Given the description of an element on the screen output the (x, y) to click on. 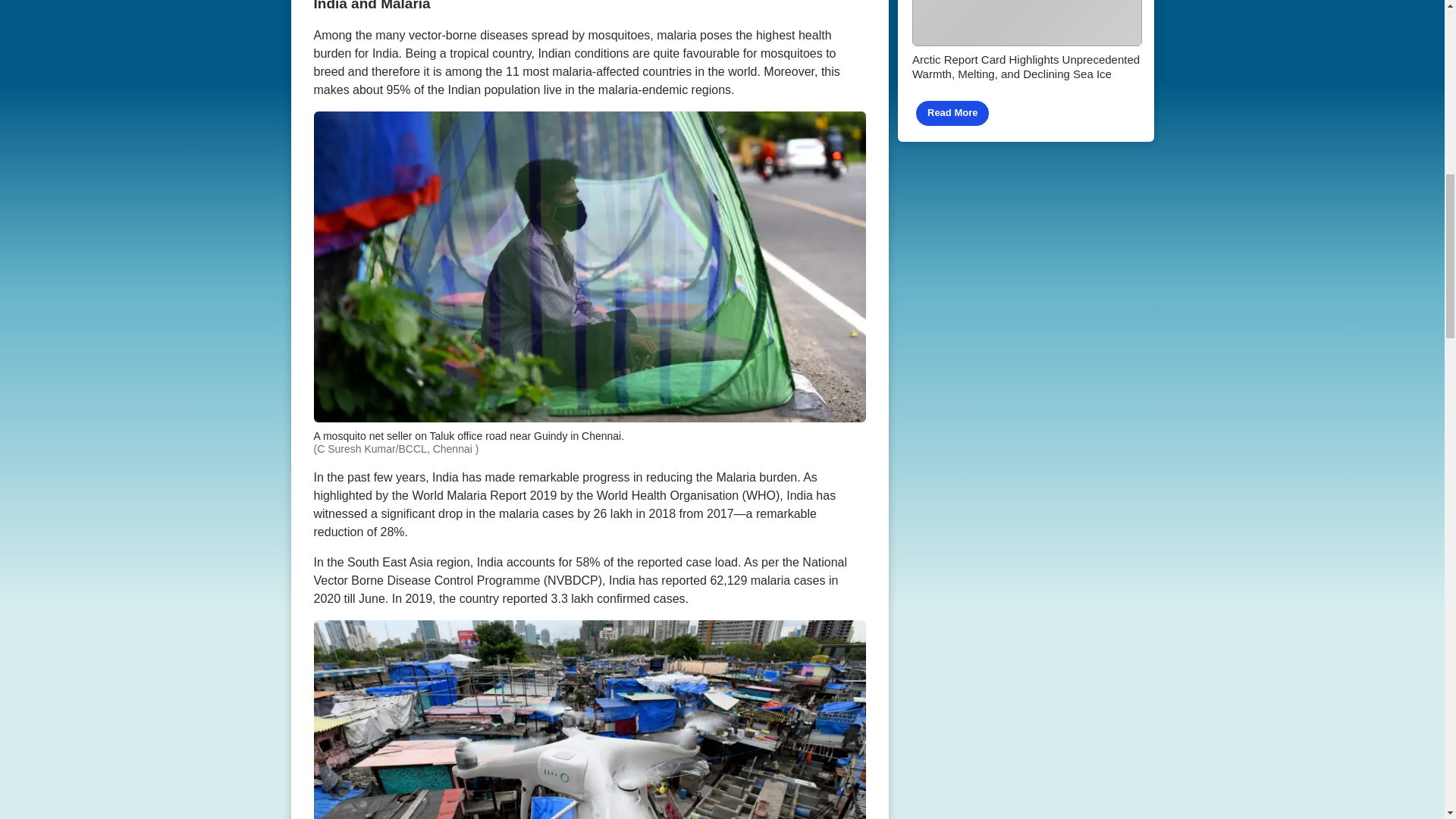
Top Video (1026, 70)
Read More (951, 113)
